Given the description of an element on the screen output the (x, y) to click on. 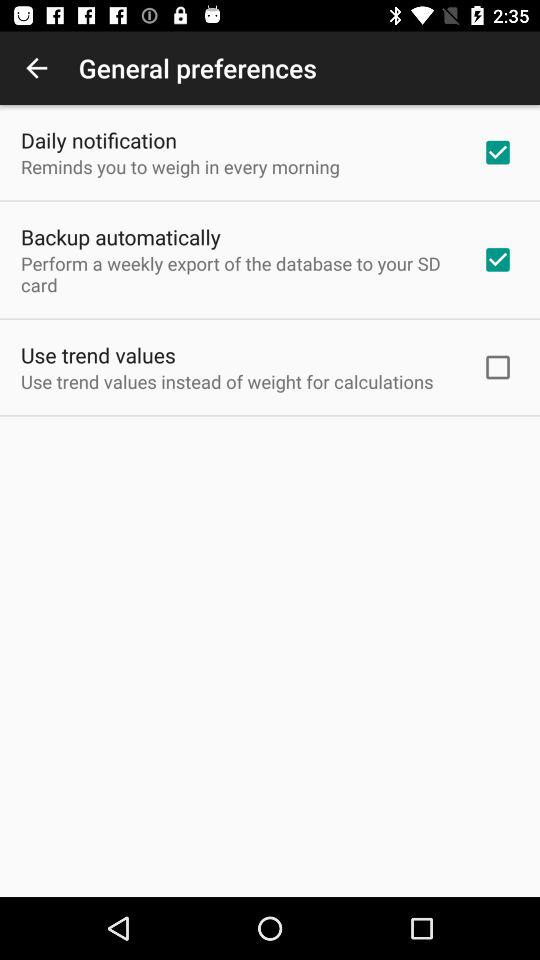
click item below the daily notification (180, 166)
